Given the description of an element on the screen output the (x, y) to click on. 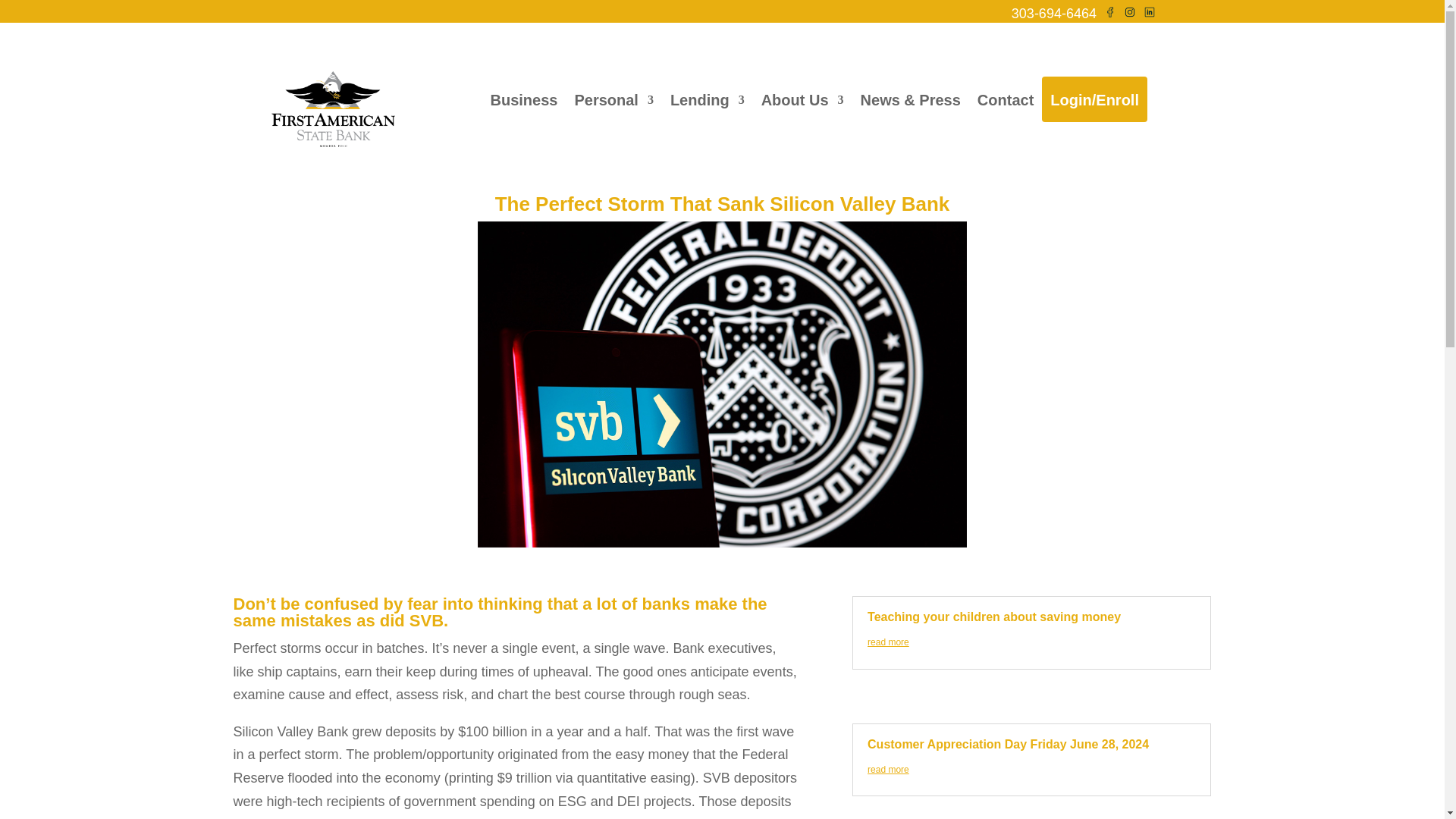
Teaching your children about saving money (994, 616)
read more (887, 769)
read more (887, 642)
Lending (706, 99)
Business (523, 99)
Personal (612, 99)
About Us (802, 99)
Customer Appreciation Day Friday June 28, 2024 (1007, 744)
Contact (1004, 99)
